Given the description of an element on the screen output the (x, y) to click on. 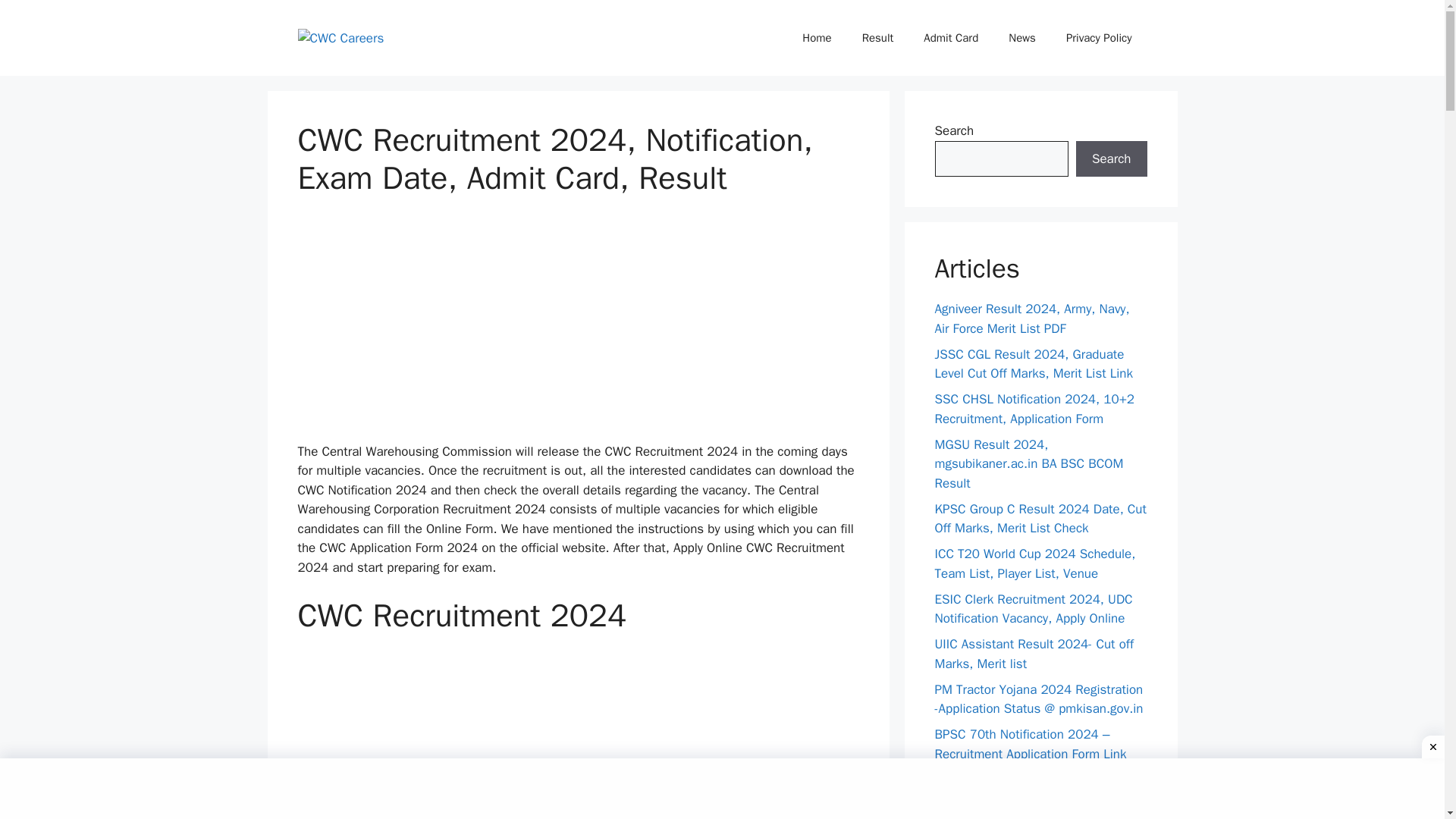
Admit Card (950, 37)
Home (816, 37)
News (1021, 37)
Advertisement (722, 788)
Advertisement (578, 734)
Advertisement (578, 329)
Privacy Policy (1099, 37)
Result (877, 37)
